Given the description of an element on the screen output the (x, y) to click on. 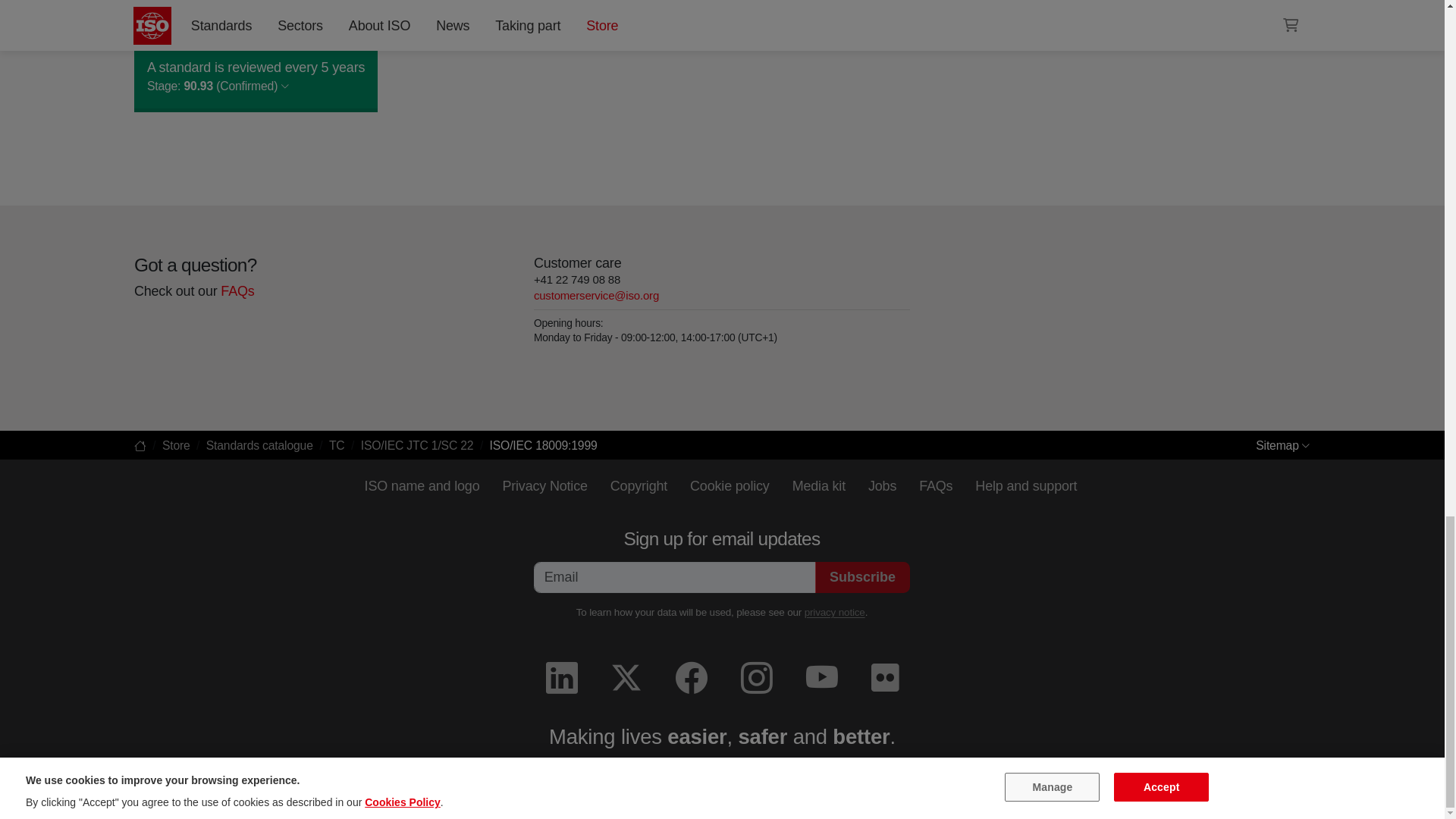
frequently-asked-questions-faqs (237, 290)
